Given the description of an element on the screen output the (x, y) to click on. 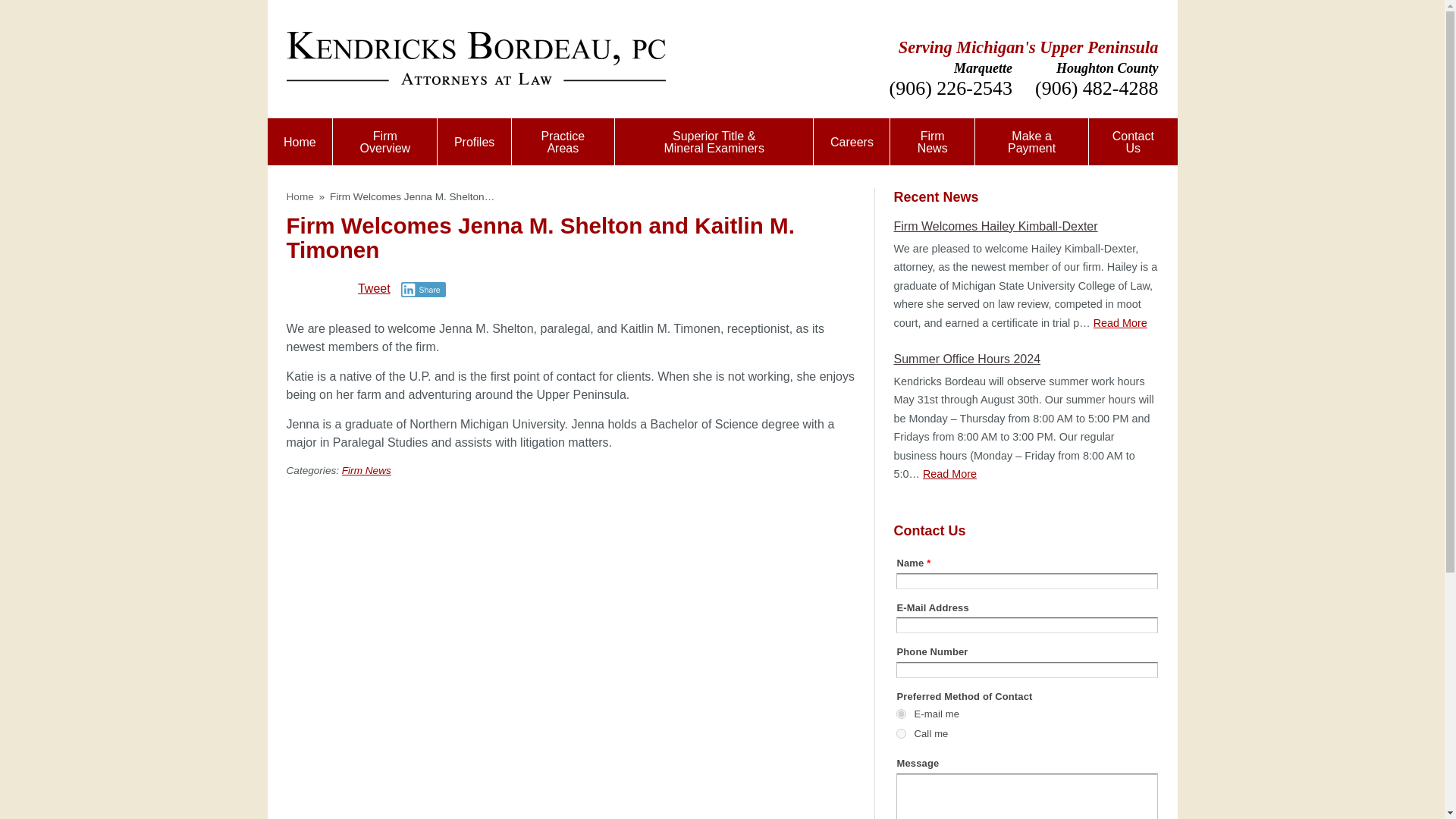
Click for more Firm News information (366, 470)
Practice Areas (563, 141)
Home (300, 196)
Profiles (474, 141)
Summer Office Hours 2024 (967, 358)
Firm Welcomes Hailey Kimball-Dexter (995, 226)
Tweet (374, 287)
Make a Payment (1031, 141)
Firm News (366, 470)
Share (423, 289)
Read more about Summer Office Hours 2024 (967, 358)
Firm News (931, 141)
Read more about Summer Office Hours 2024 (949, 473)
Read More (1120, 322)
Firm Overview (384, 141)
